Given the description of an element on the screen output the (x, y) to click on. 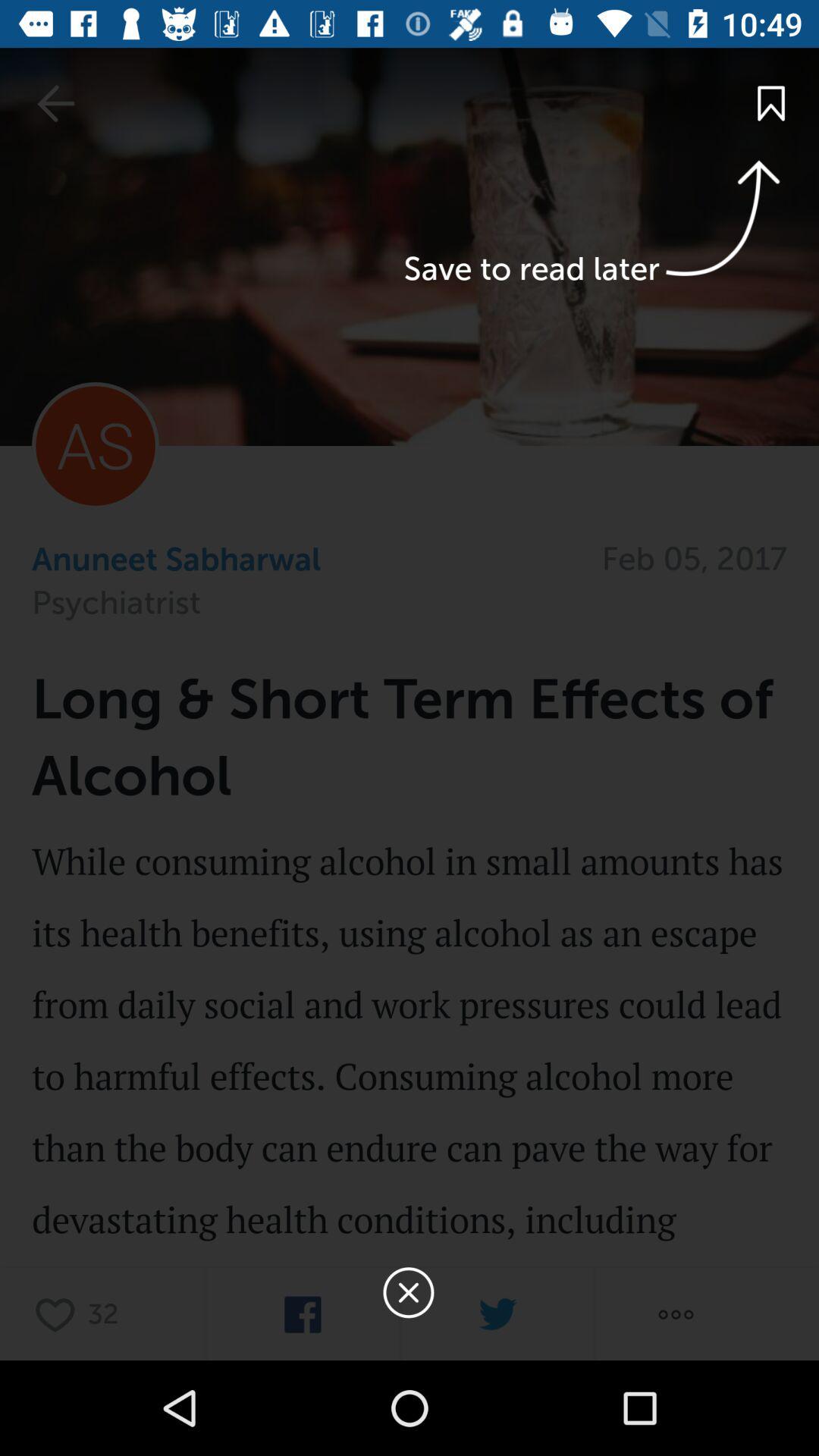
click on the icon above anuneet sabharwal (94, 445)
